Given the description of an element on the screen output the (x, y) to click on. 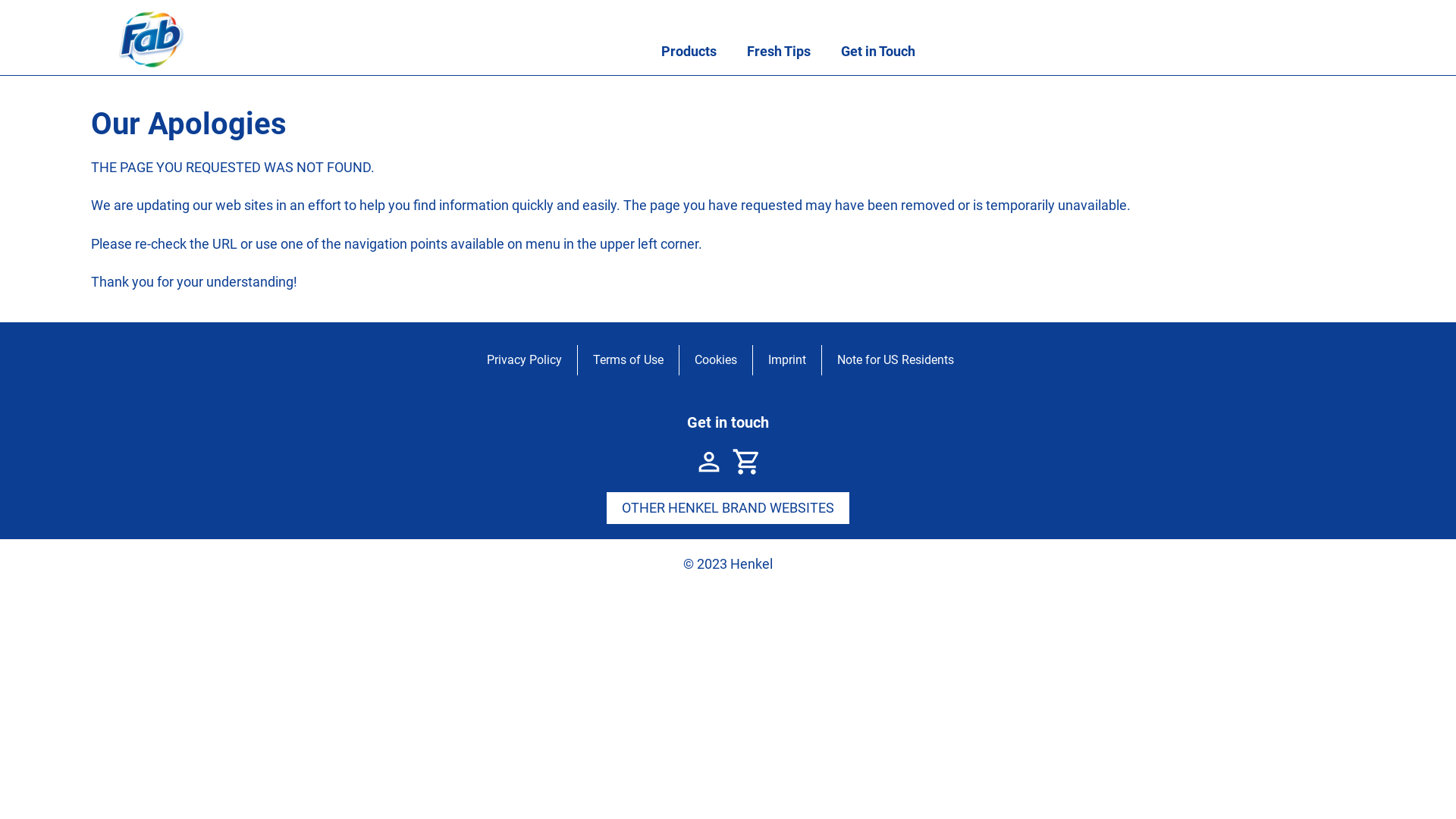
Terms of Use Element type: text (628, 360)
Products Element type: text (688, 51)
Imprint Element type: text (787, 360)
Get in Touch Element type: text (877, 51)
Fresh Tips Element type: text (778, 51)
OTHER HENKEL BRAND WEBSITES Element type: text (727, 508)
Privacy Policy Element type: text (523, 360)
Note for US Residents Element type: text (895, 360)
Cookies Element type: text (715, 360)
